Given the description of an element on the screen output the (x, y) to click on. 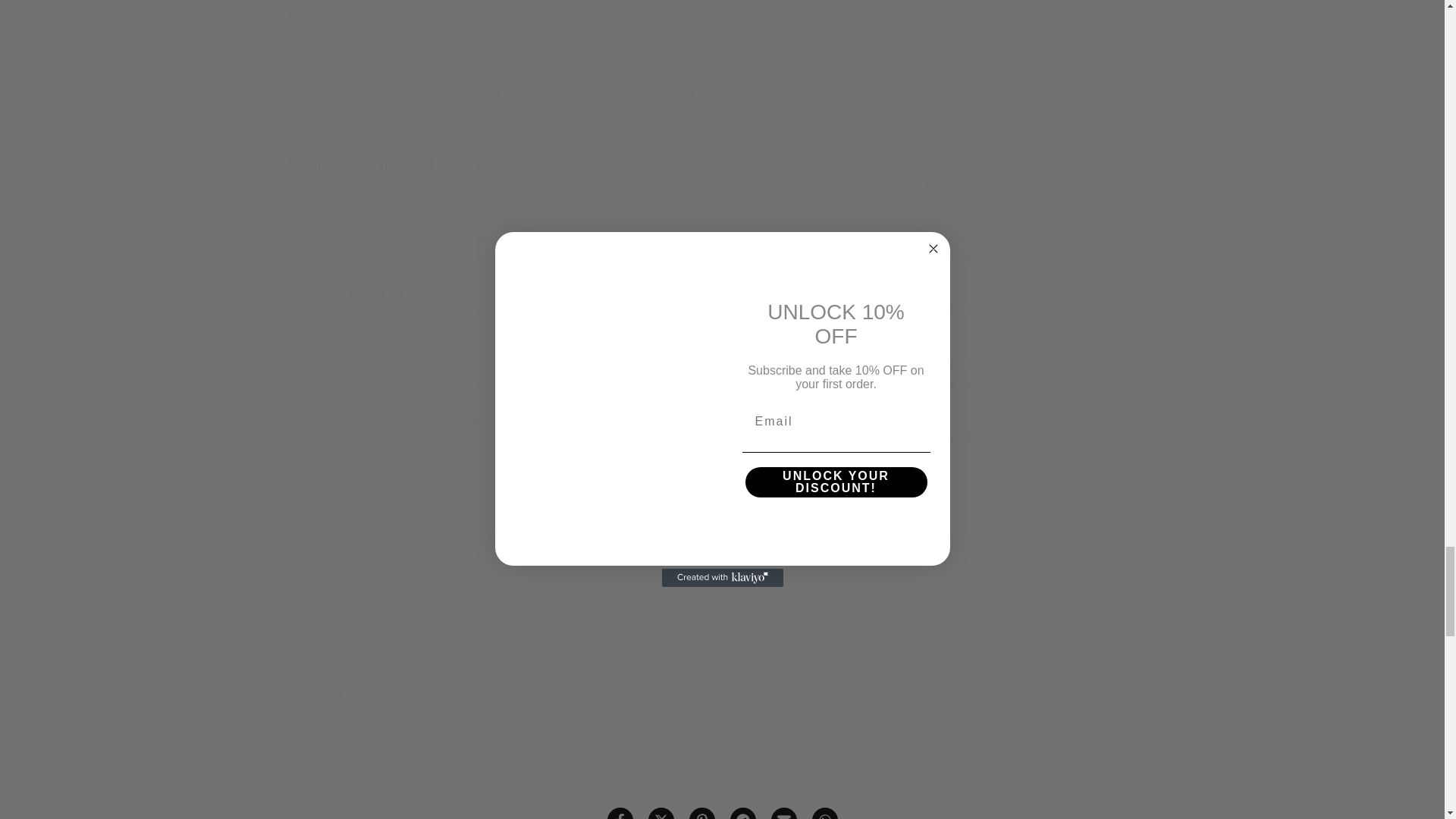
Share on Facebook (619, 813)
Share on Twitter (659, 813)
Share on Email (783, 813)
Share on WhatsApp (823, 813)
Share on Telegram (742, 813)
Share on Pinterest (701, 813)
